Given the description of an element on the screen output the (x, y) to click on. 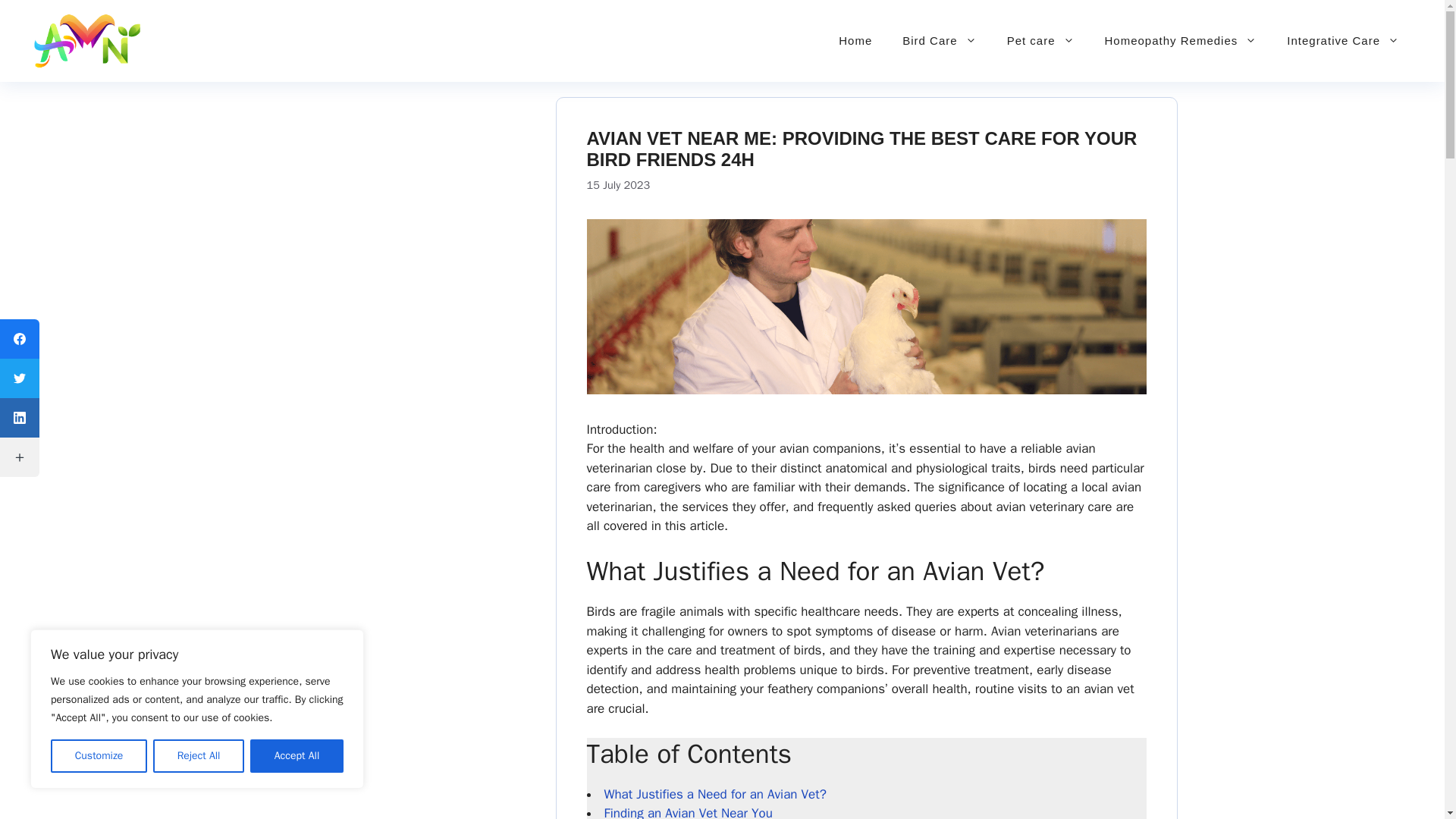
Pet care (1040, 40)
Bird Care (938, 40)
Accept All (296, 756)
Customize (98, 756)
Reject All (198, 756)
Home (855, 40)
